Given the description of an element on the screen output the (x, y) to click on. 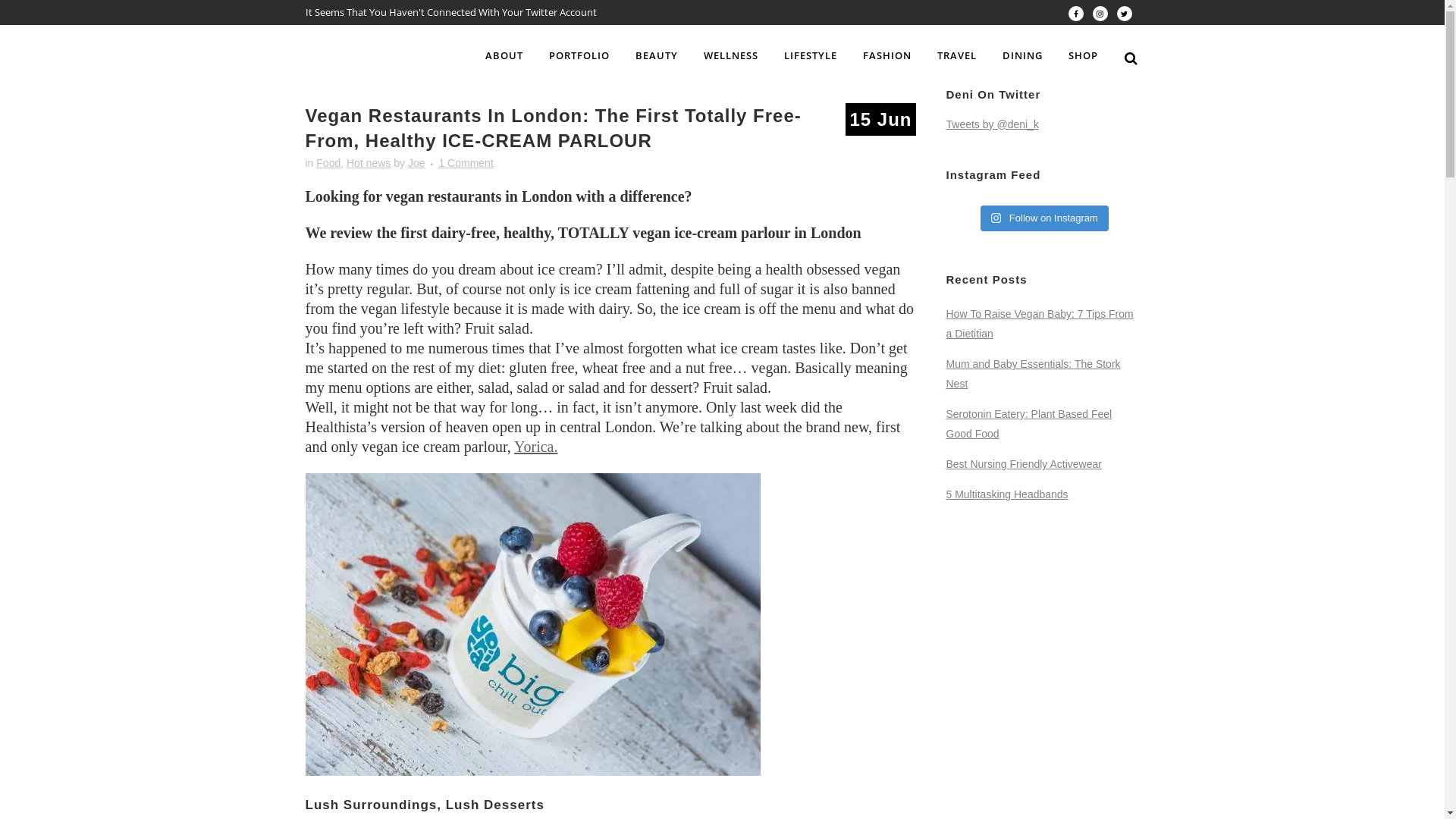
DINING Element type: text (1021, 55)
How To Raise Vegan Baby: 7 Tips From a Dietitian Element type: text (1039, 323)
SHOP Element type: text (1082, 55)
PORTFOLIO Element type: text (578, 55)
Food Element type: text (328, 162)
Mum and Baby Essentials: The Stork Nest Element type: text (1033, 373)
ABOUT Element type: text (503, 55)
1 Comment Element type: text (465, 162)
Tweets by @deni_k Element type: text (992, 124)
5 Multitasking Headbands Element type: text (1007, 494)
FASHION Element type: text (886, 55)
LIFESTYLE Element type: text (809, 55)
Follow on Instagram Element type: text (1044, 218)
TRAVEL Element type: text (955, 55)
Best Nursing Friendly Activewear Element type: text (1023, 464)
Serotonin Eatery: Plant Based Feel Good Food Element type: text (1029, 423)
Hot news Element type: text (368, 162)
WELLNESS Element type: text (730, 55)
Joe Element type: text (416, 162)
Yorica. Element type: text (535, 446)
BEAUTY Element type: text (655, 55)
